Given the description of an element on the screen output the (x, y) to click on. 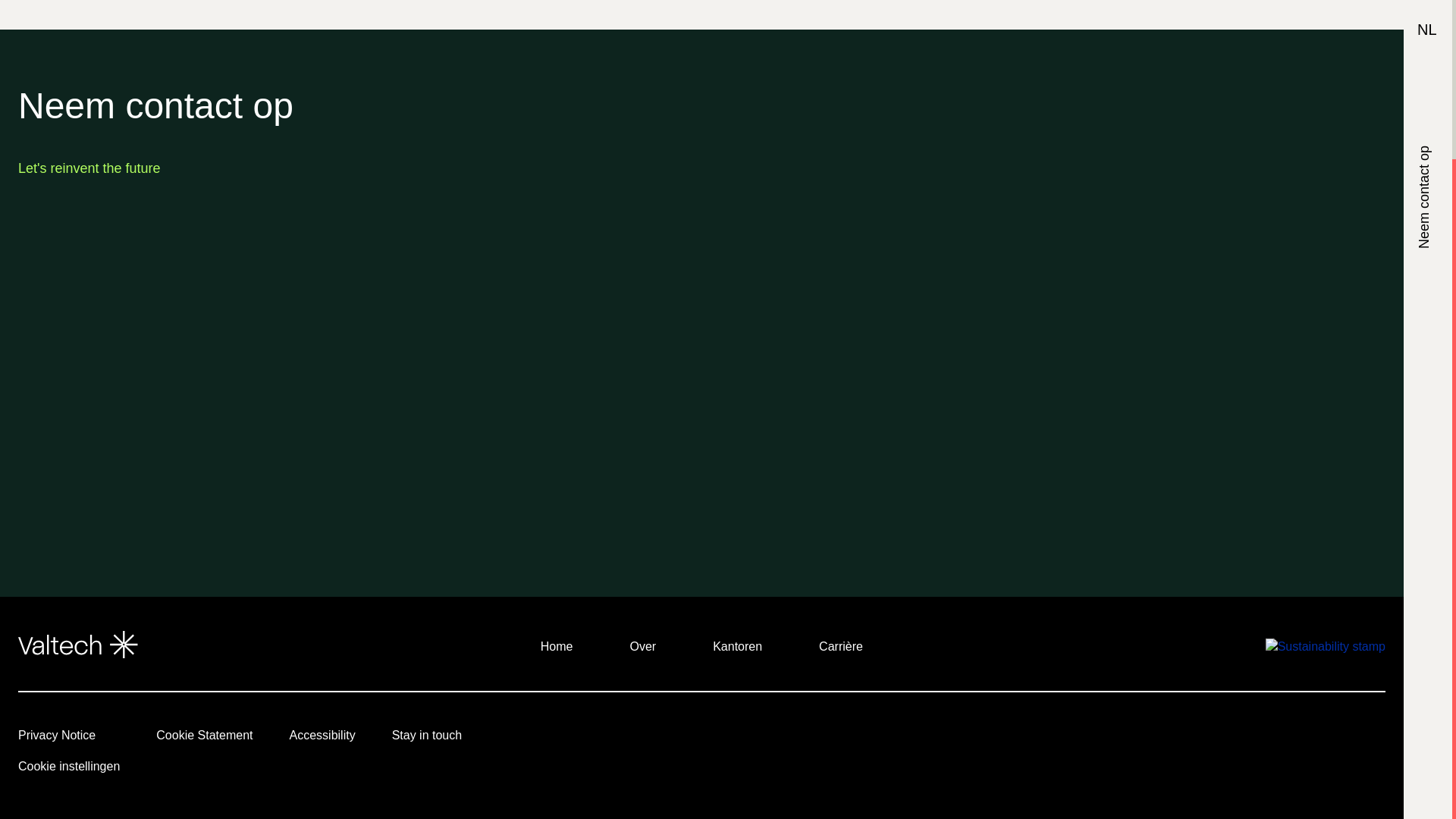
Apple Podcasts (1227, 739)
Sound Cloud (1269, 739)
Valtech Logo (77, 644)
Google Podcasts (1352, 739)
Instagram (1144, 739)
LinkedIn (1059, 739)
Facebook (1184, 739)
Sustainability stamp link (1325, 645)
Spotify (1310, 739)
YouTube (1101, 739)
